Given the description of an element on the screen output the (x, y) to click on. 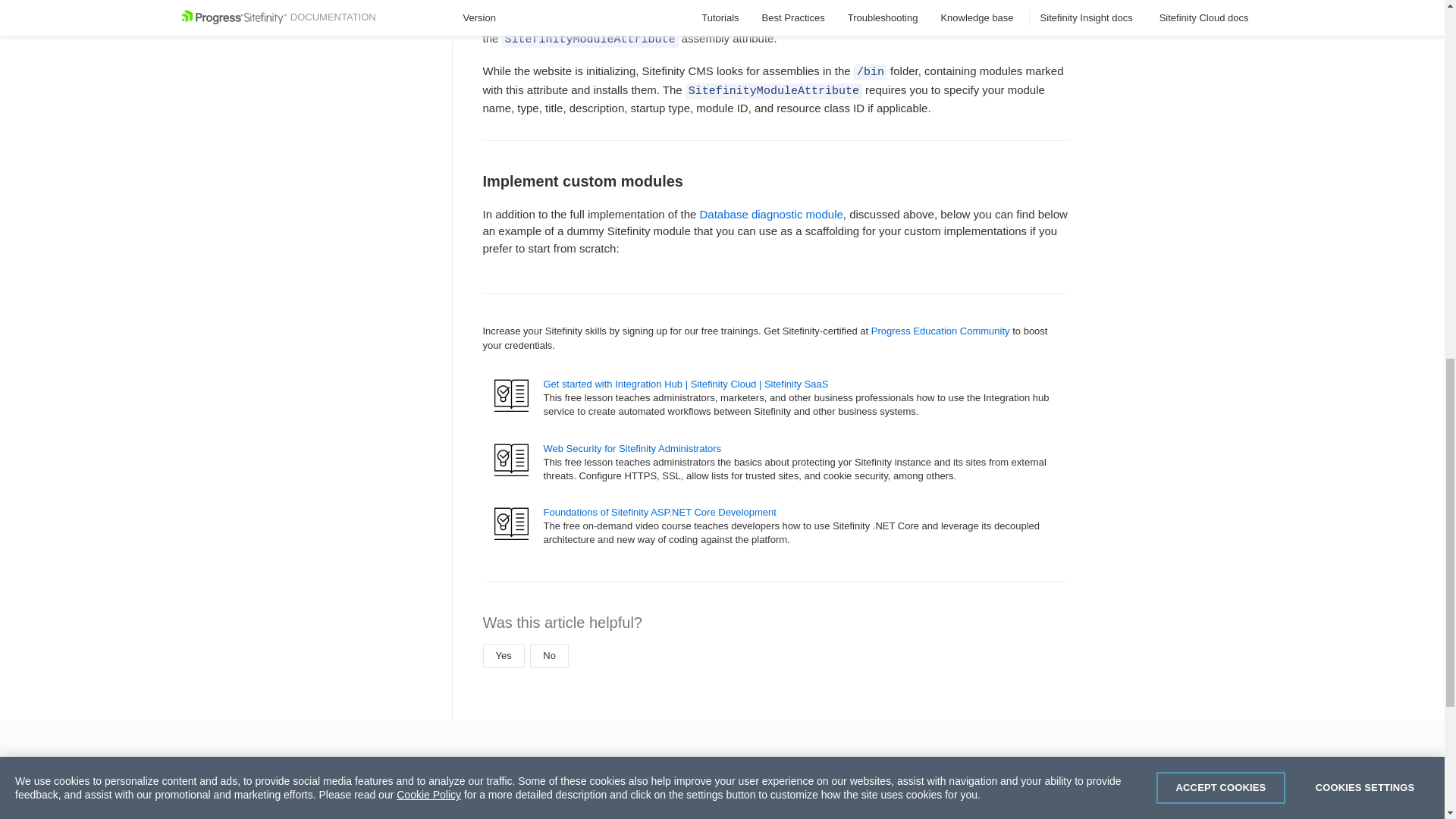
Implement custom modules (774, 136)
